Given the description of an element on the screen output the (x, y) to click on. 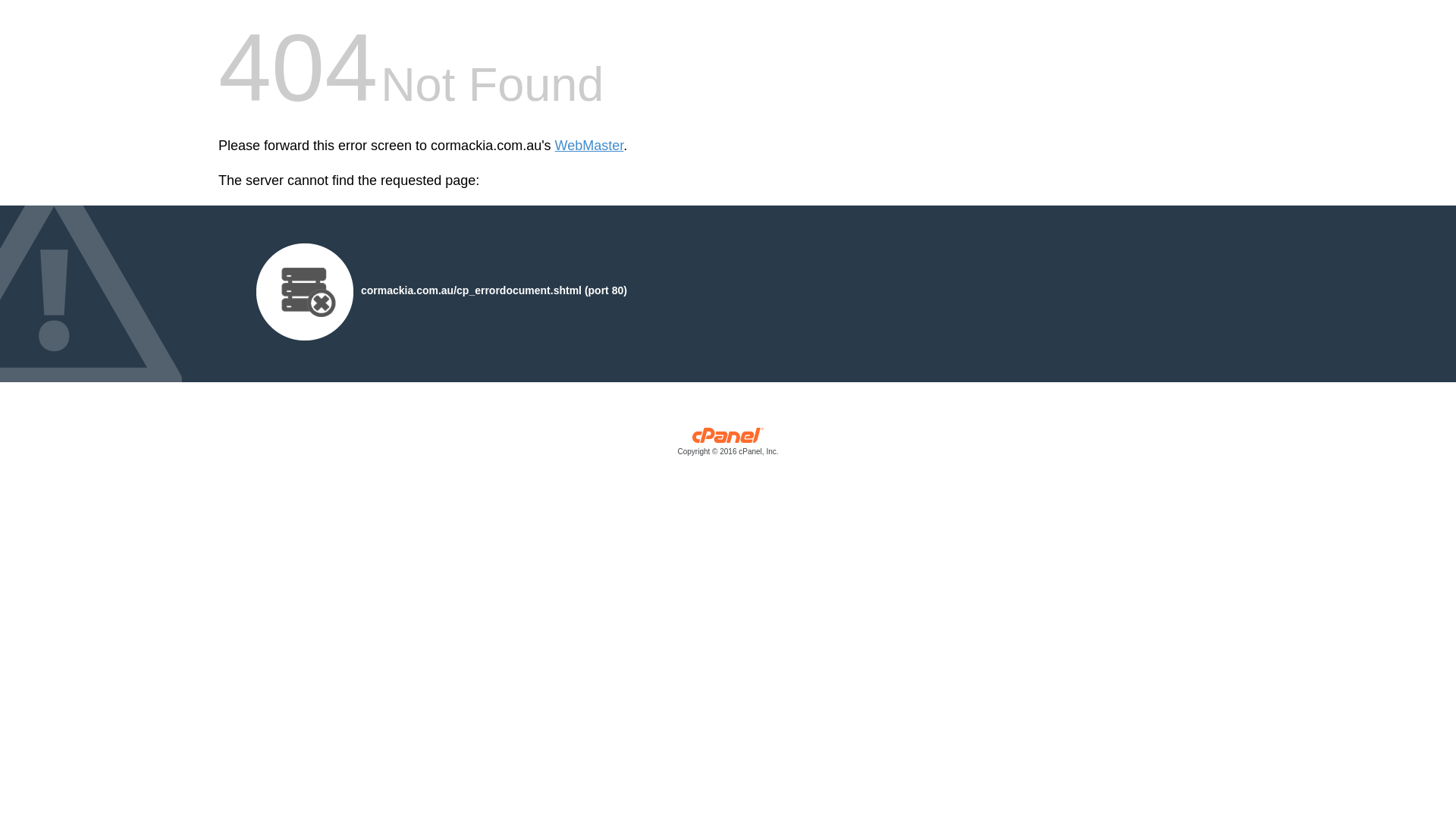
WebMaster Element type: text (589, 145)
